Given the description of an element on the screen output the (x, y) to click on. 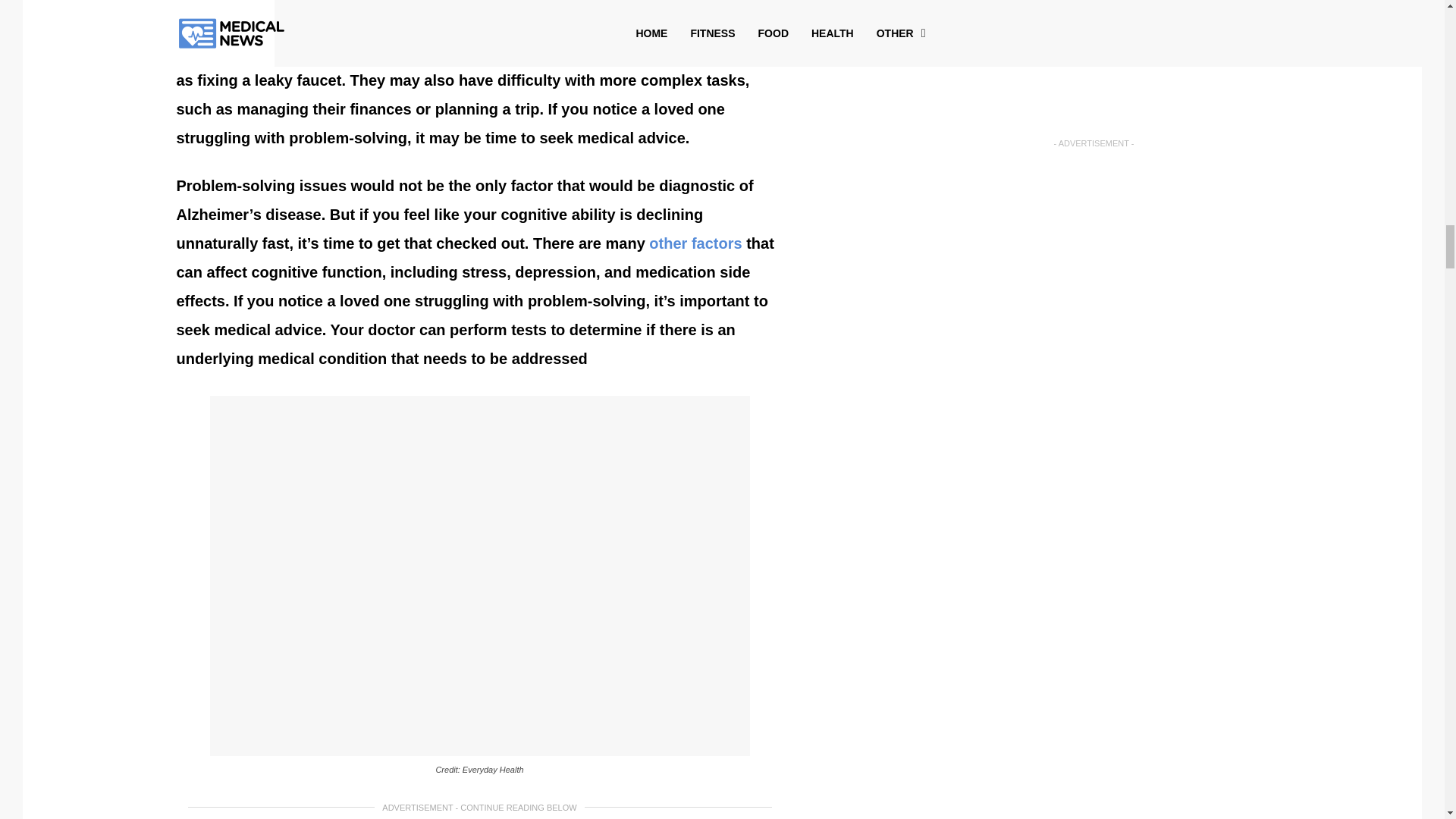
other factors (695, 243)
think logically (638, 1)
